Given the description of an element on the screen output the (x, y) to click on. 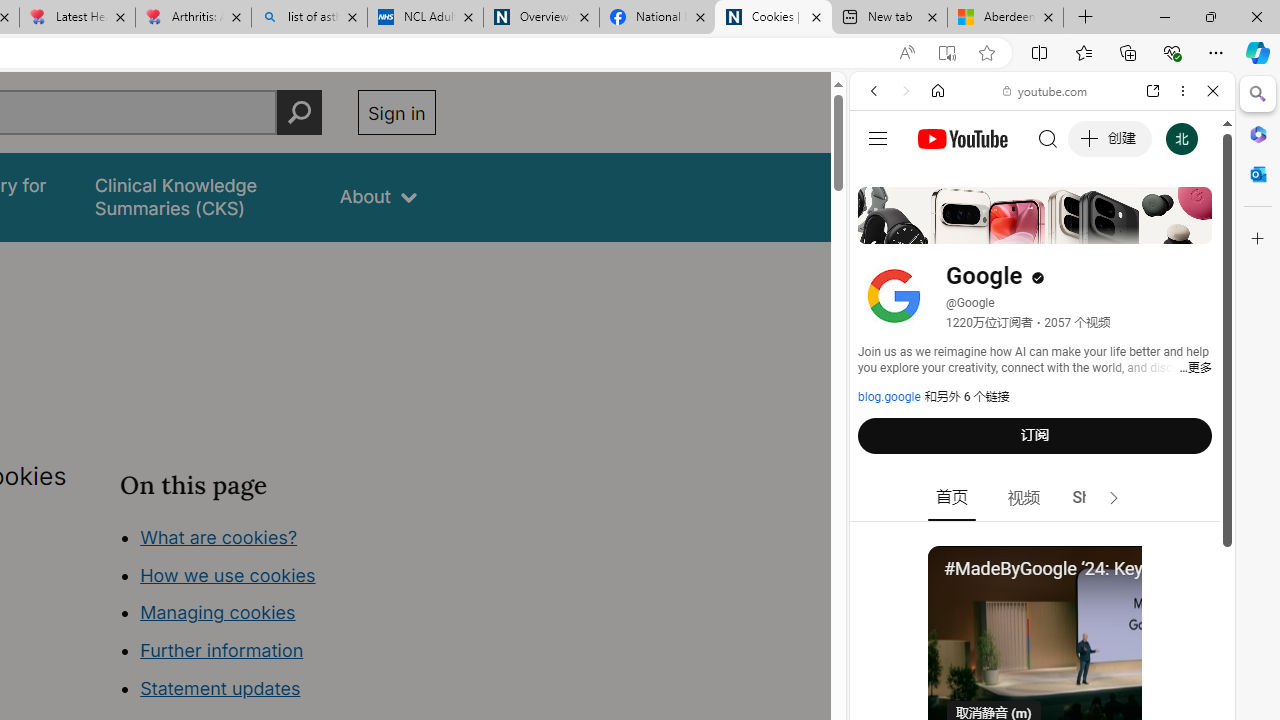
Search (1258, 94)
AutomationID: right (1113, 497)
Open link in new tab (1153, 91)
Statement updates (219, 688)
false (198, 196)
Music (1042, 543)
list of asthma inhalers uk - Search (309, 17)
Enter Immersive Reader (F9) (946, 53)
